Given the description of an element on the screen output the (x, y) to click on. 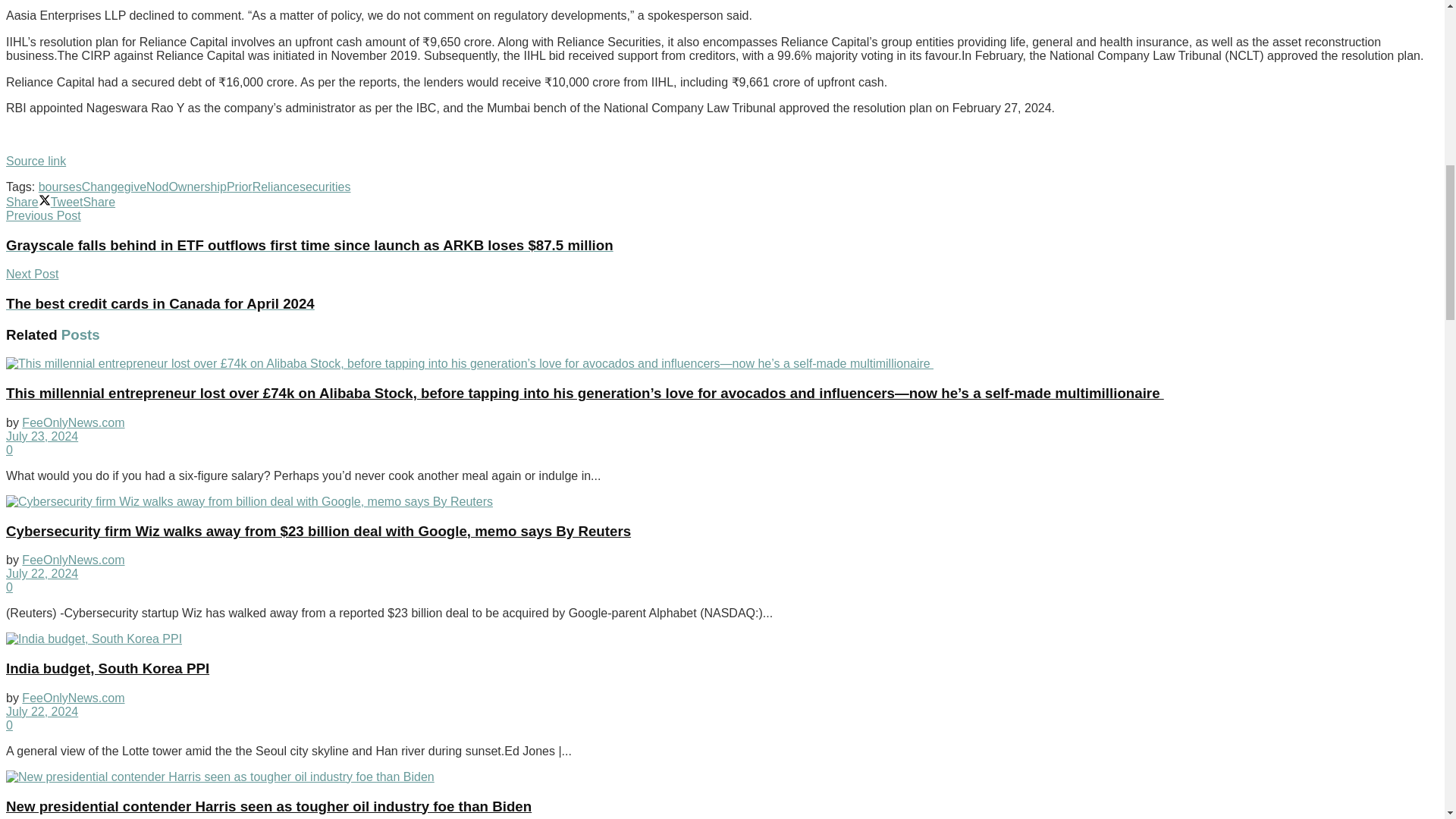
India budget, South Korea PPI (93, 639)
